Given the description of an element on the screen output the (x, y) to click on. 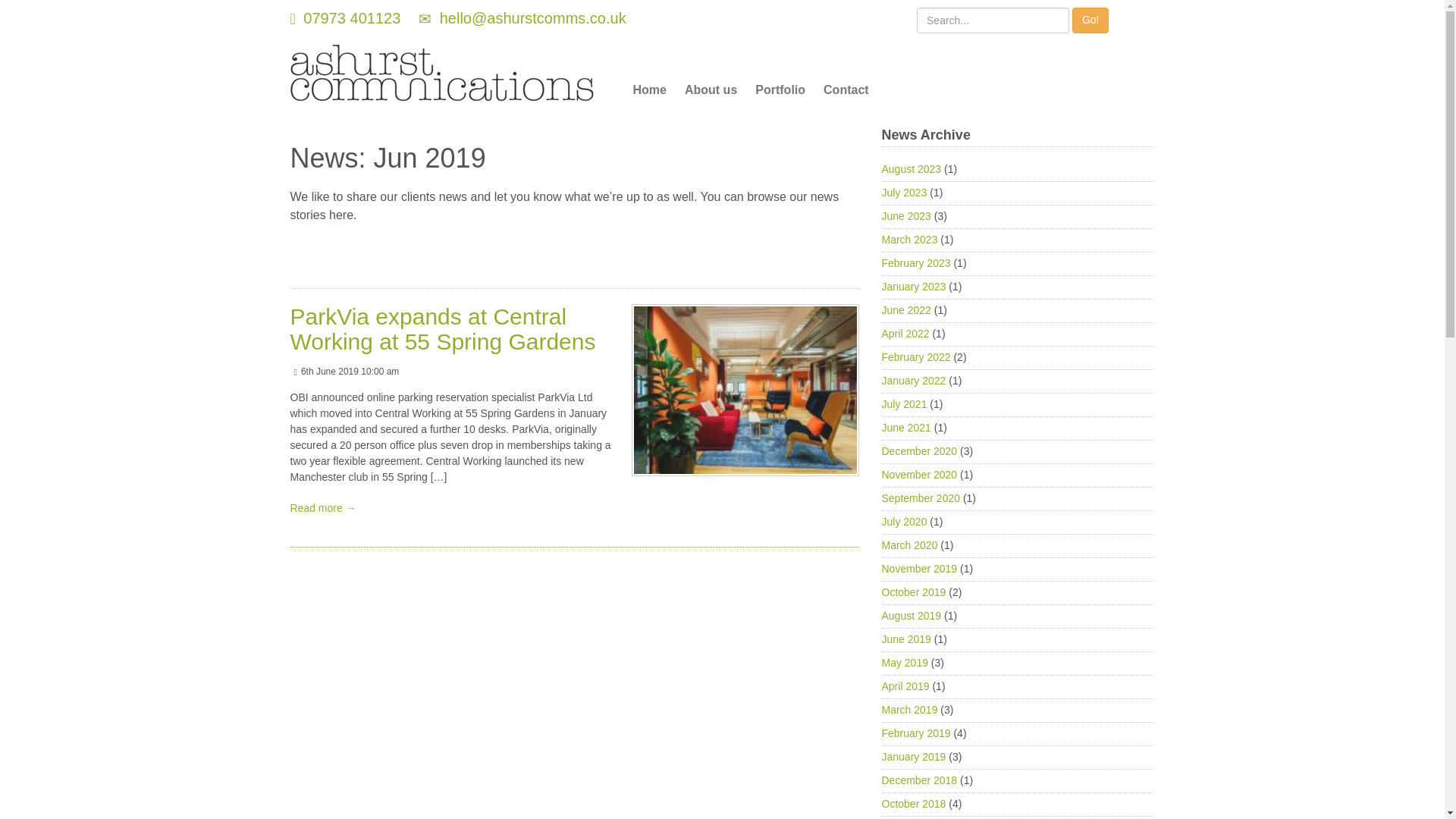
August 2023 (910, 168)
April 2022 (904, 333)
Go! (1090, 20)
May 2019 (903, 662)
July 2023 (903, 192)
November 2019 (918, 568)
February 2022 (915, 357)
August 2019 (910, 615)
July 2021 (903, 404)
